Given the description of an element on the screen output the (x, y) to click on. 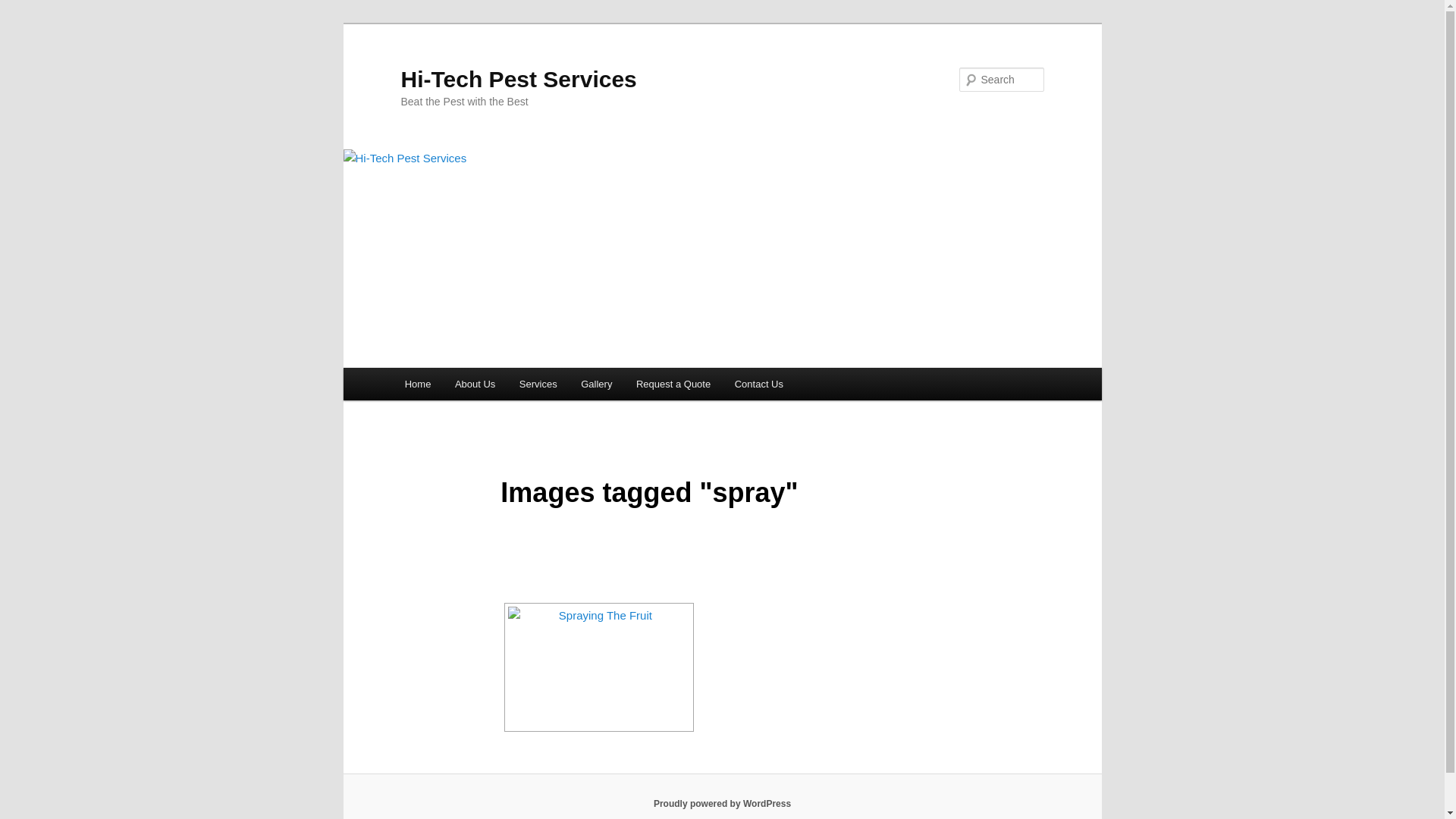
Search Element type: text (24, 8)
Contact Us Element type: text (758, 383)
Services Element type: text (537, 383)
Spraying The Fruit Element type: hover (599, 667)
Home Element type: text (417, 383)
Hi-Tech Pest Services Element type: text (518, 78)
Proudly powered by WordPress Element type: text (721, 803)
Gallery Element type: text (596, 383)
Skip to primary content Element type: text (22, 22)
About Us Element type: text (474, 383)
Request a Quote Element type: text (673, 383)
